Given the description of an element on the screen output the (x, y) to click on. 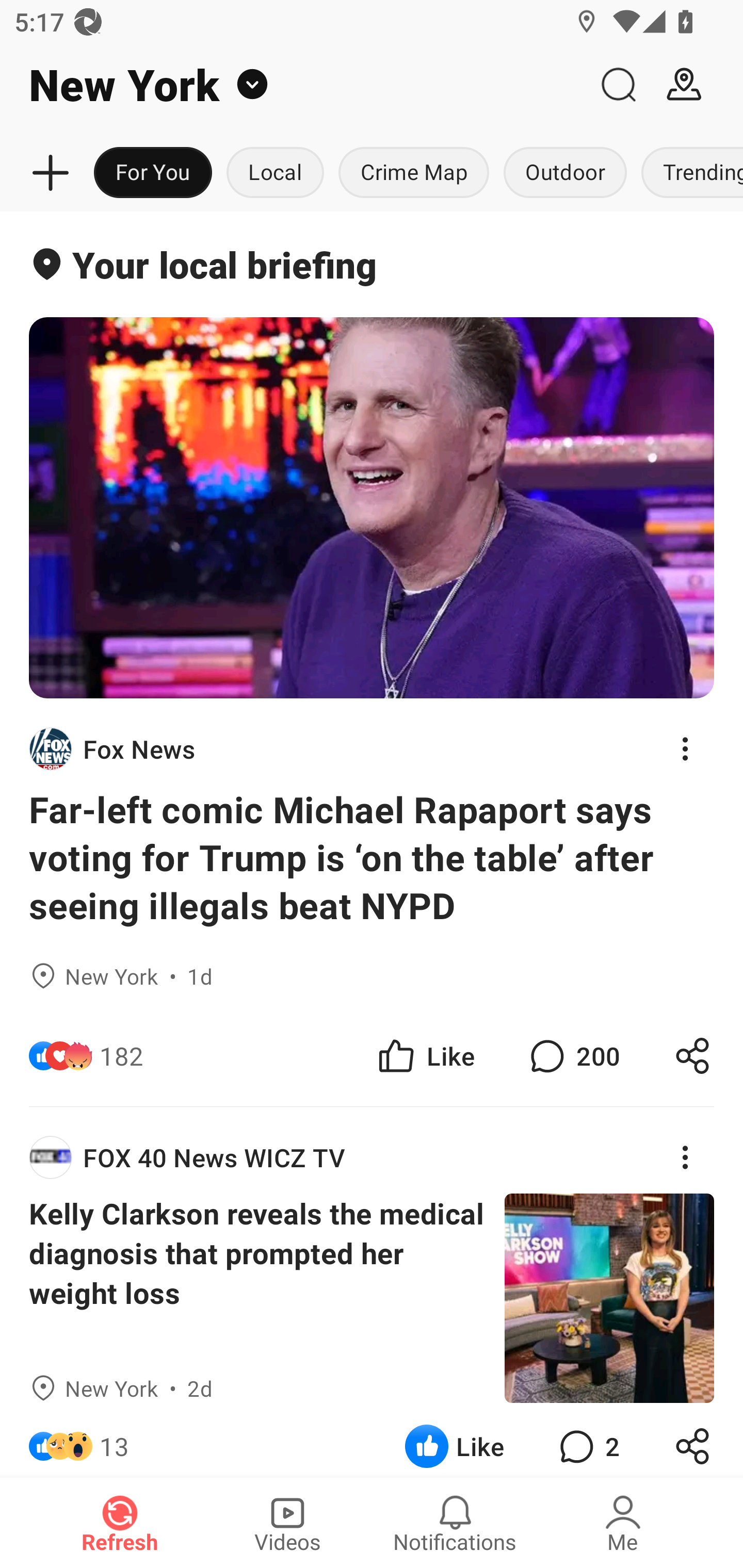
New York (292, 84)
For You (152, 172)
Local (275, 172)
Crime Map (413, 172)
Outdoor (564, 172)
Trending (688, 172)
182 (121, 1055)
Like (425, 1055)
200 (572, 1055)
13 (114, 1440)
Like (454, 1440)
2 (587, 1440)
Videos (287, 1522)
Notifications (455, 1522)
Me (622, 1522)
